Given the description of an element on the screen output the (x, y) to click on. 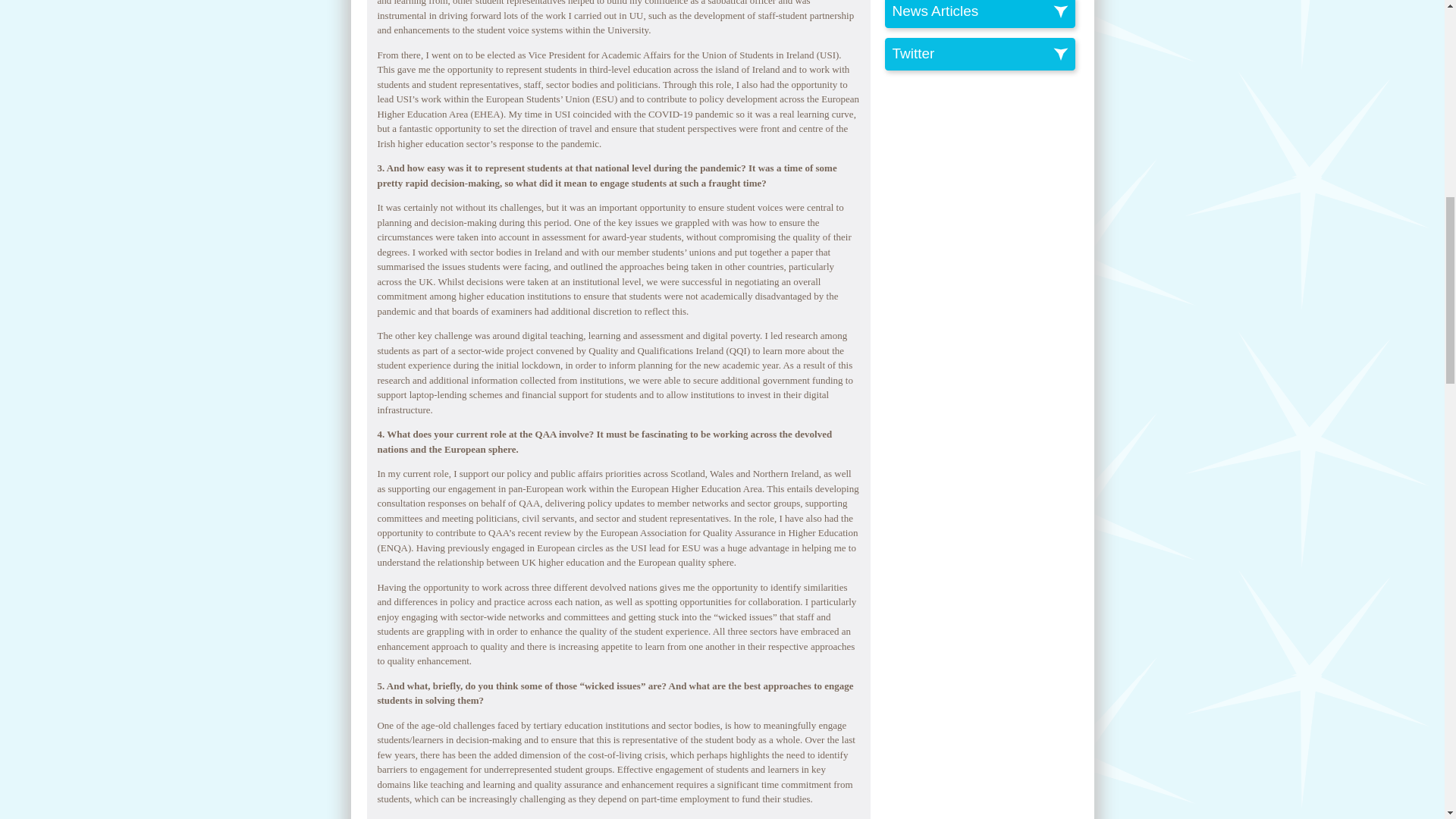
sparqs News (983, 11)
Read sparqs' Twitter feed (983, 54)
